Given the description of an element on the screen output the (x, y) to click on. 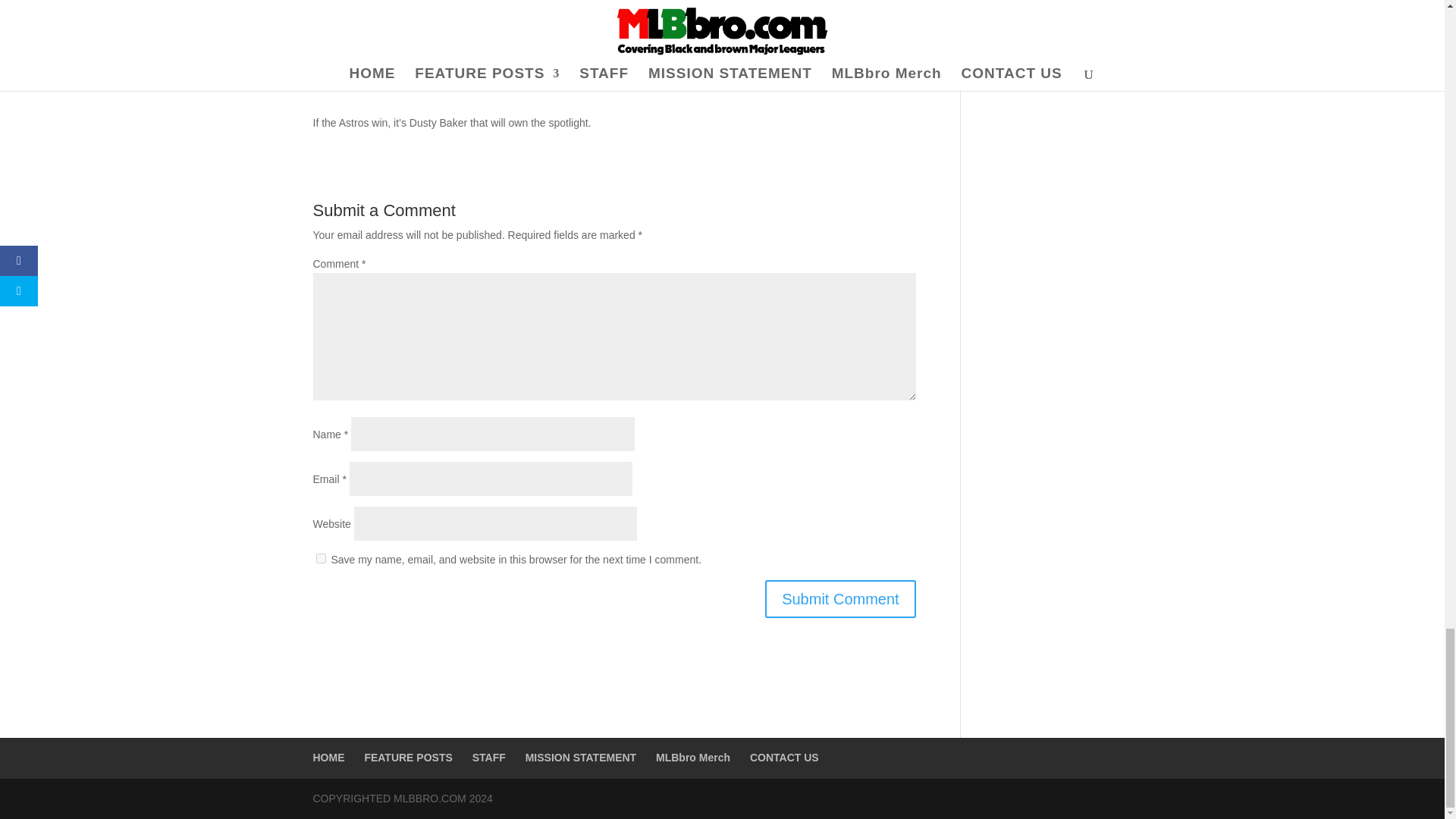
HOME (328, 757)
Submit Comment (840, 598)
Submit Comment (840, 598)
yes (319, 558)
January 16, 2020 (538, 52)
FEATURE POSTS (407, 757)
